Given the description of an element on the screen output the (x, y) to click on. 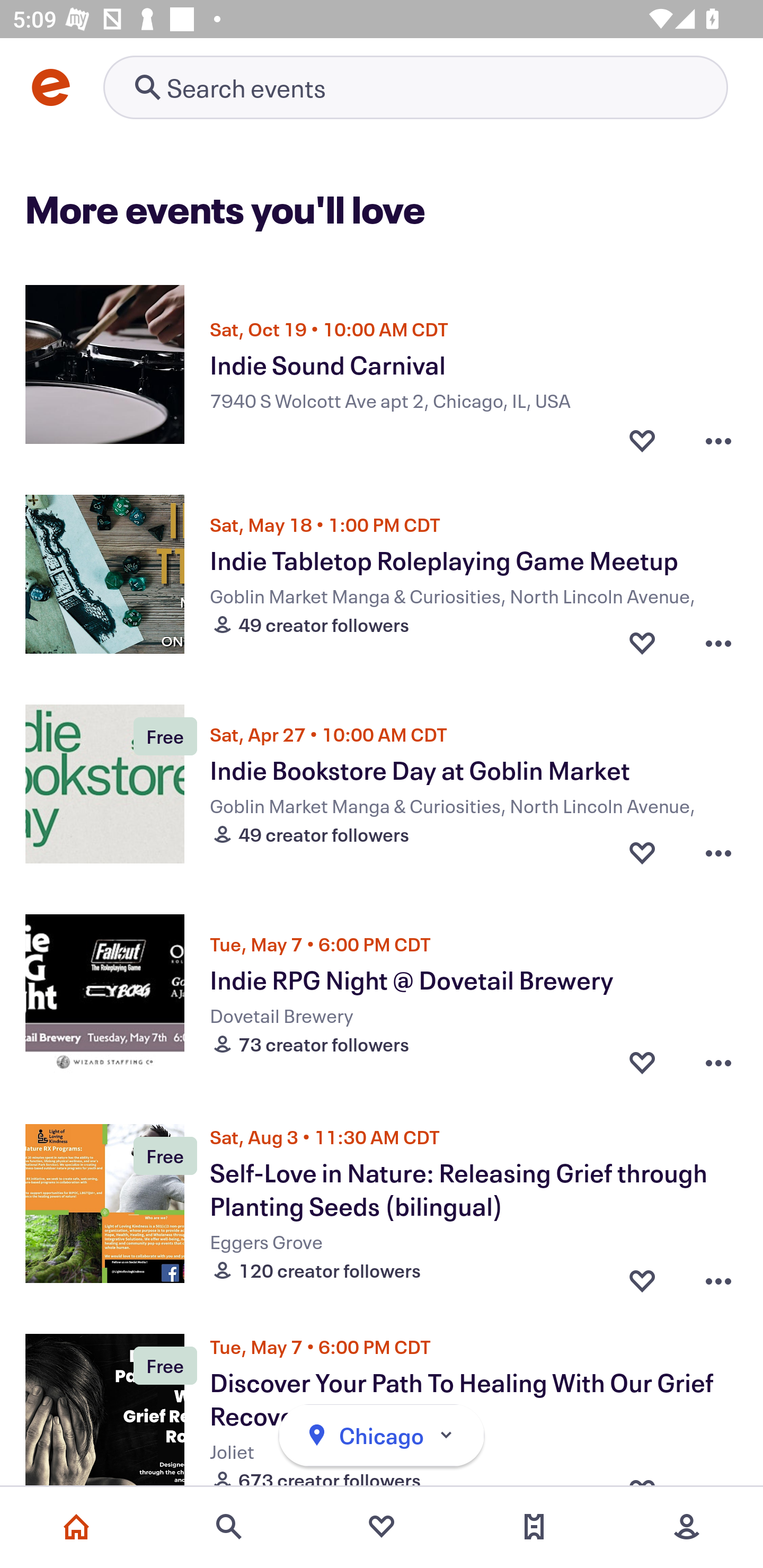
Retry's image Search events (415, 86)
Favorite button (642, 435)
Overflow menu button (718, 435)
Favorite button (642, 641)
Overflow menu button (718, 641)
Favorite button (642, 852)
Overflow menu button (718, 852)
Favorite button (642, 1062)
Overflow menu button (718, 1062)
Favorite button (642, 1275)
Overflow menu button (718, 1275)
Chicago (381, 1435)
Home (76, 1526)
Search events (228, 1526)
Favorites (381, 1526)
Tickets (533, 1526)
More (686, 1526)
